Given the description of an element on the screen output the (x, y) to click on. 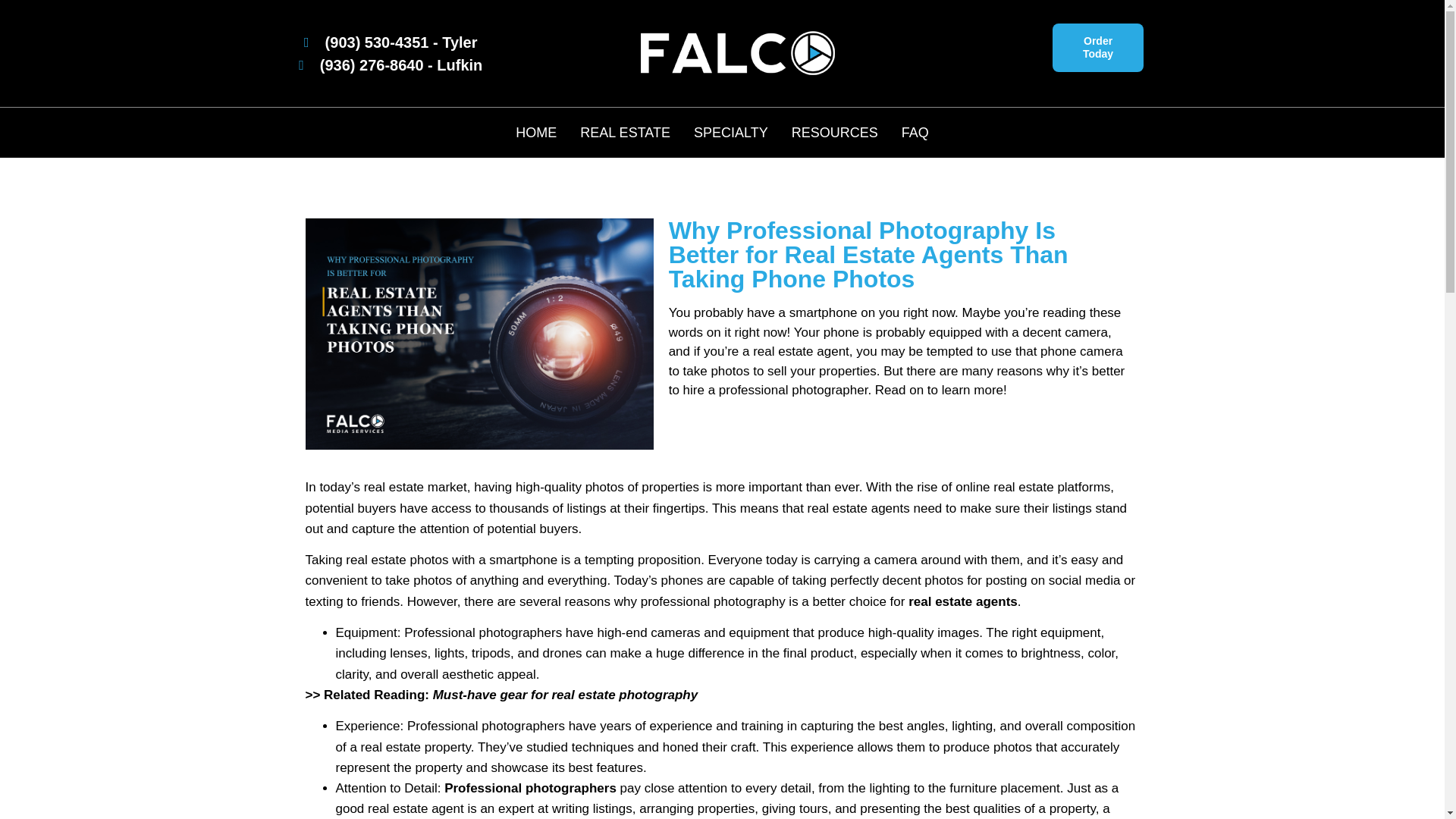
Order Today (1097, 47)
RESOURCES (834, 132)
REAL ESTATE (625, 132)
SPECIALTY (730, 132)
HOME (535, 132)
FAQ (914, 132)
